Given the description of an element on the screen output the (x, y) to click on. 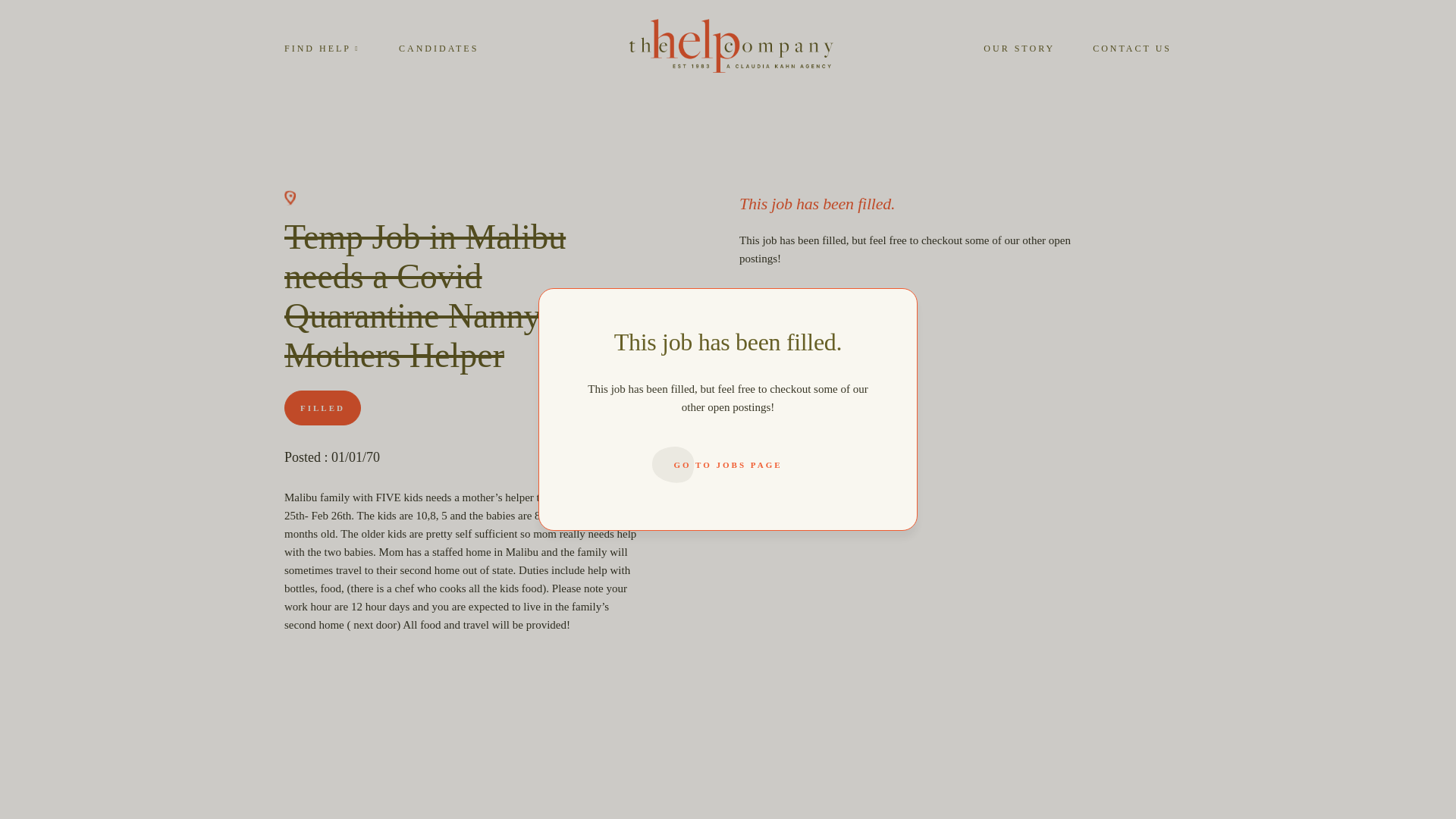
FIND HELP (322, 47)
CANDIDATES (438, 47)
GO TO JOBS PAGE (727, 464)
GO TO JOBS PAGE (815, 319)
CONTACT US (1132, 47)
OUR STORY (1019, 47)
